Given the description of an element on the screen output the (x, y) to click on. 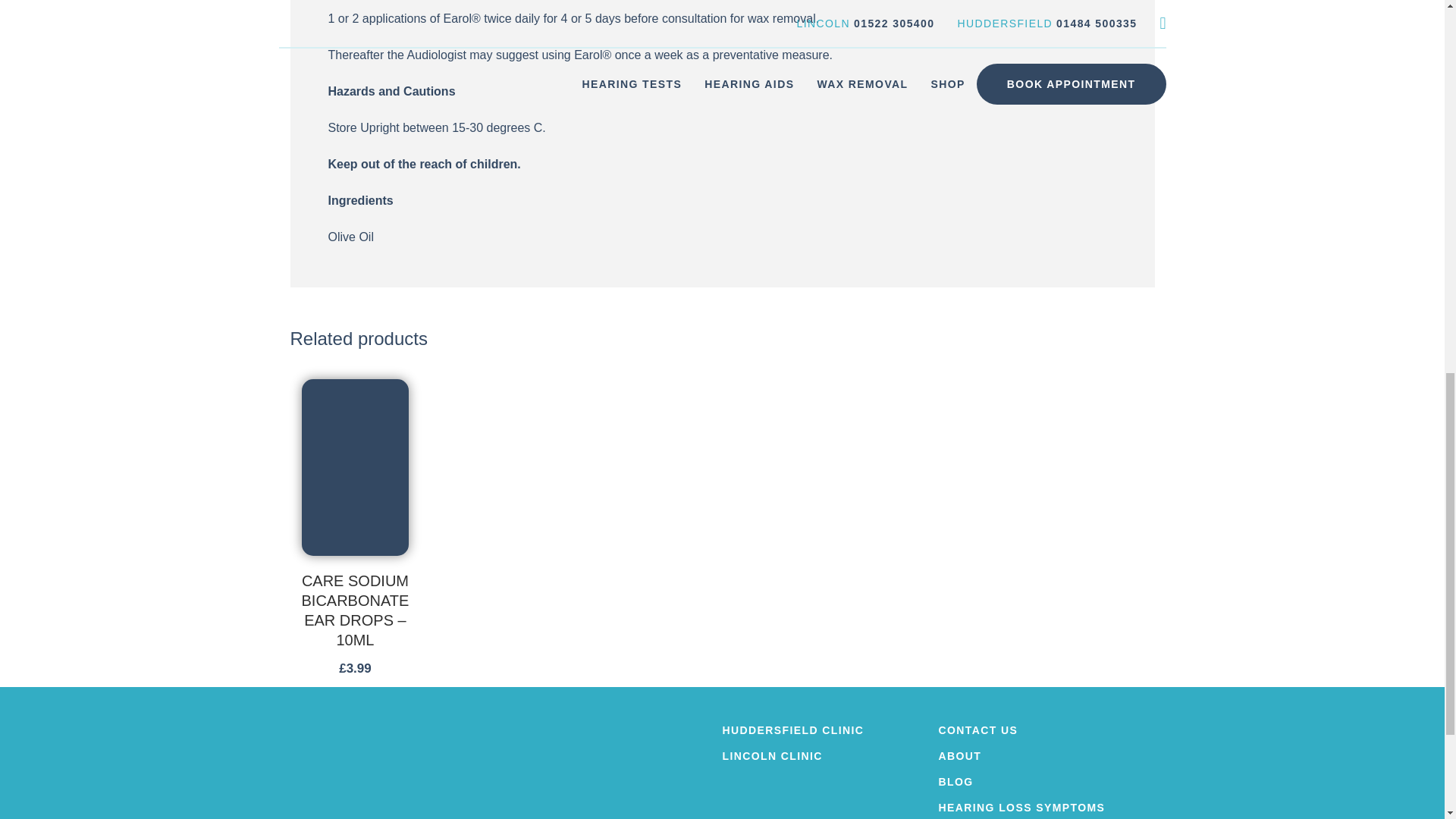
HUDDERSFIELD CLINIC (829, 729)
BLOG (1046, 781)
CONTACT US (1046, 729)
ABOUT (1046, 756)
HEARING LOSS SYMPTOMS (1046, 807)
LINCOLN CLINIC (829, 756)
